Given the description of an element on the screen output the (x, y) to click on. 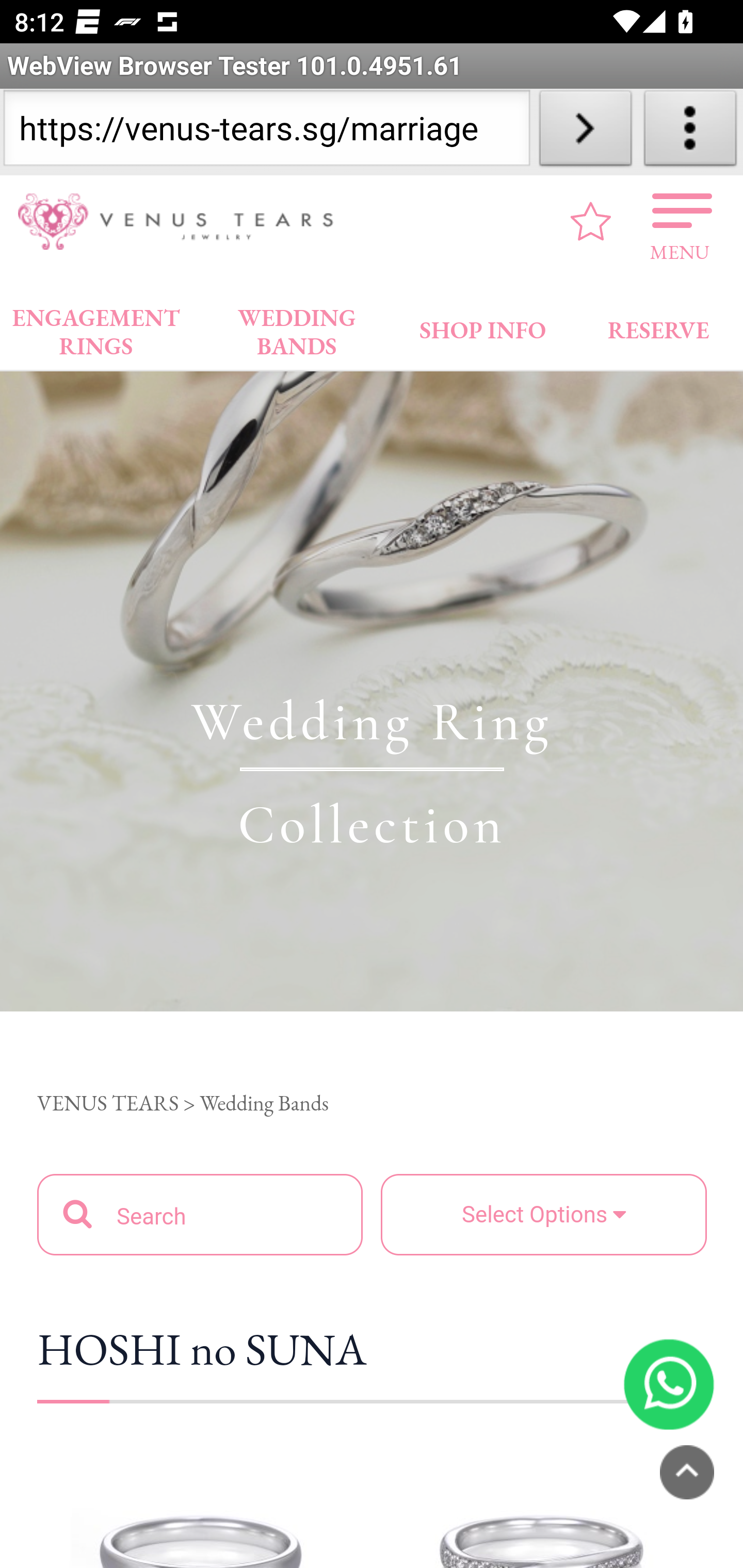
https://venus-tears.sg/marriage (266, 132)
Load URL (585, 132)
About WebView (690, 132)
favourite (591, 220)
MENU (680, 220)
VENUS TEARS (181, 221)
ENGAGEMENT RINGS ENGAGEMENT RINGS (96, 326)
WEDDING BANDS WEDDING BANDS (296, 326)
SHOP INFO (482, 325)
RESERVE (657, 325)
VENUS TEARS (108, 1102)
Select Options (543, 1213)
6585184875 (668, 1383)
PAGETOP (686, 1472)
